Given the description of an element on the screen output the (x, y) to click on. 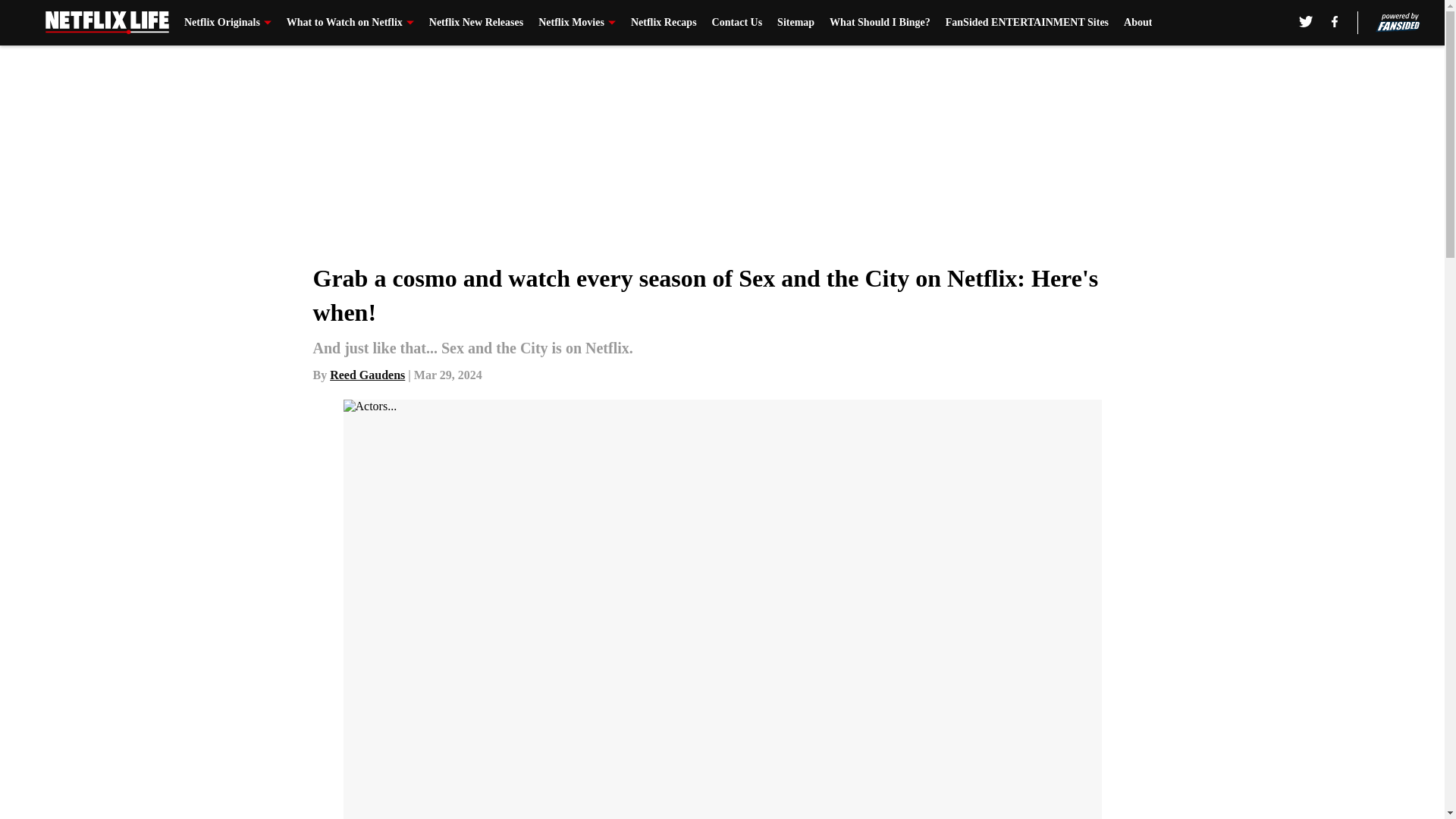
Netflix New Releases (475, 22)
What to Watch on Netflix (349, 22)
Netflix Originals (227, 22)
Netflix Movies (576, 22)
